Given the description of an element on the screen output the (x, y) to click on. 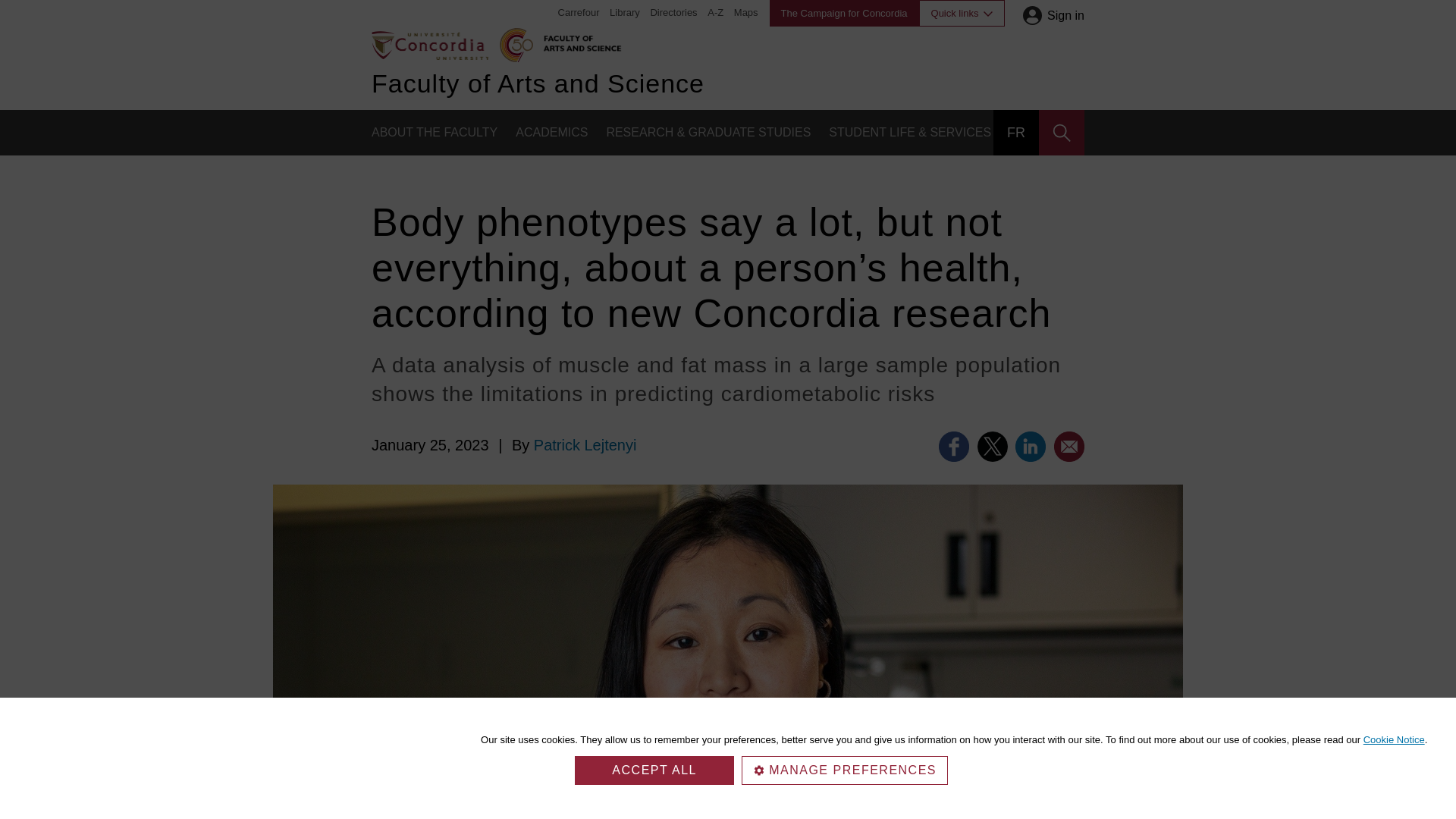
Back to home (429, 44)
Share on Twitter (991, 446)
Cookie Notice (1393, 739)
Share on LinkedIn (1029, 446)
Library (625, 12)
Faculty of Arts and Science (579, 41)
ACCEPT ALL (654, 769)
MANAGE PREFERENCES (844, 769)
Carrefour (578, 12)
Email this story (1069, 446)
Share on Facebook (954, 446)
